Given the description of an element on the screen output the (x, y) to click on. 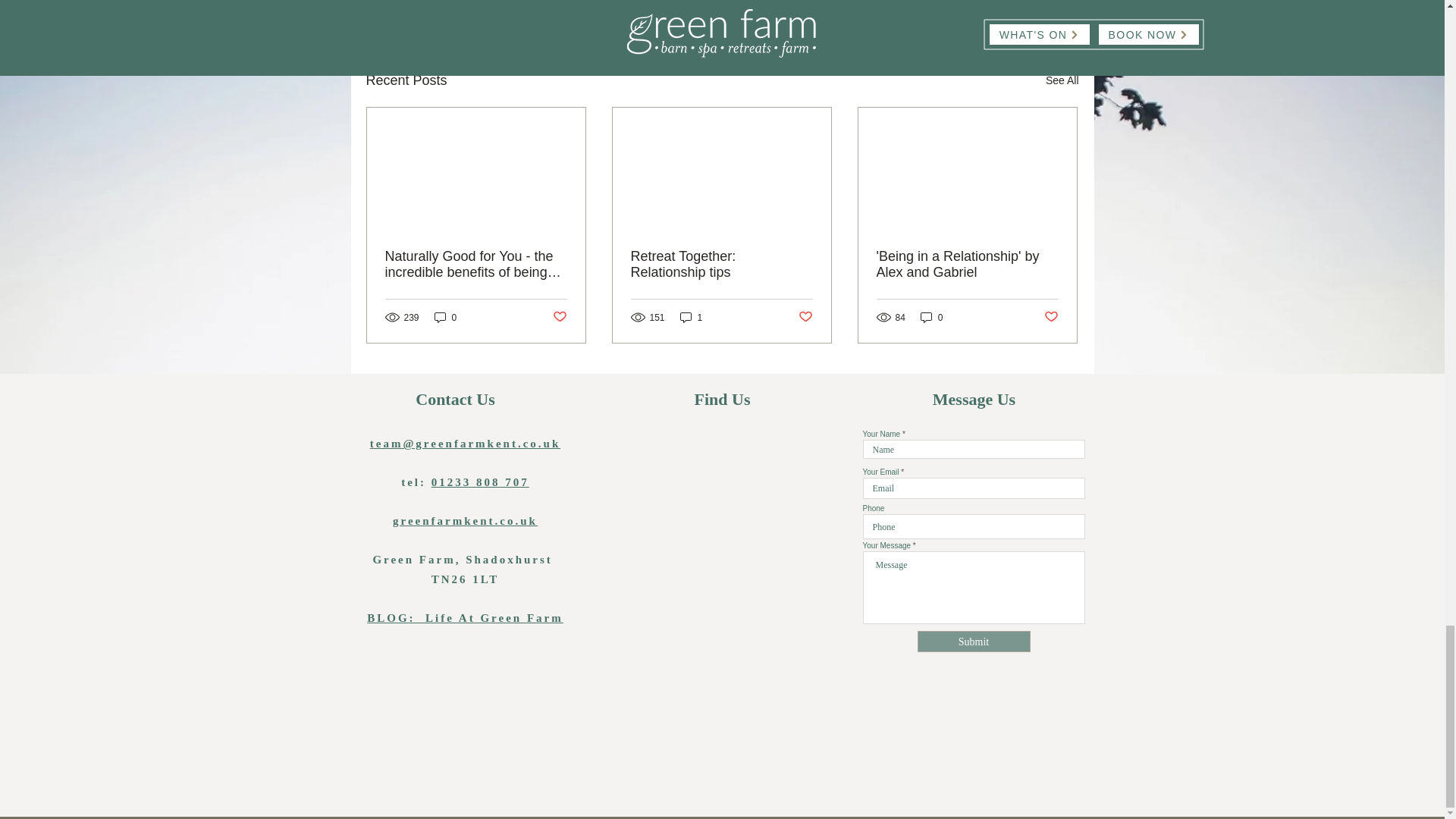
Retreat Together: Relationship tips (721, 264)
'Being in a Relationship' by Alex and Gabriel (967, 264)
0 (445, 317)
0 (931, 317)
1 (691, 317)
Post not marked as liked (1050, 317)
Post not marked as liked (804, 317)
See All (990, 2)
Post not marked as liked (1061, 80)
